Given the description of an element on the screen output the (x, y) to click on. 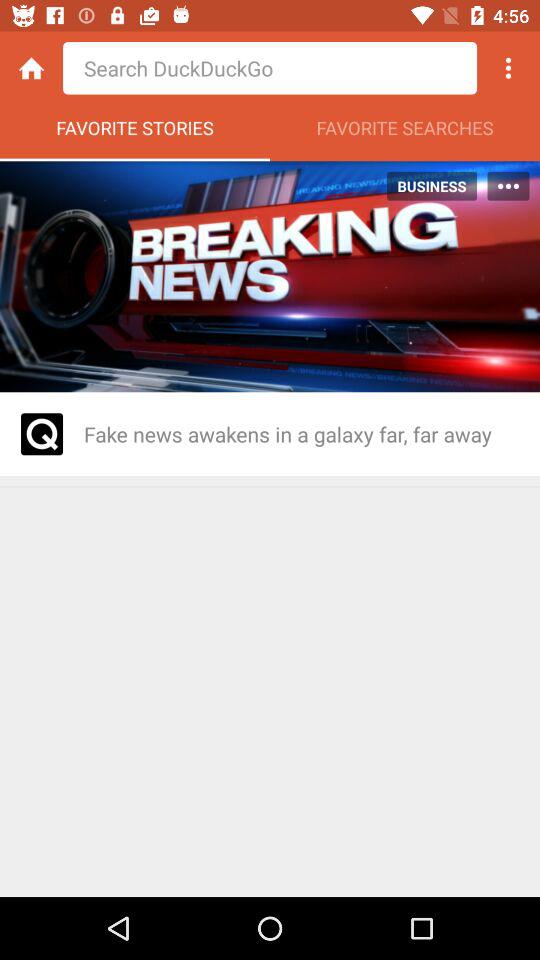
share page (508, 68)
